Given the description of an element on the screen output the (x, y) to click on. 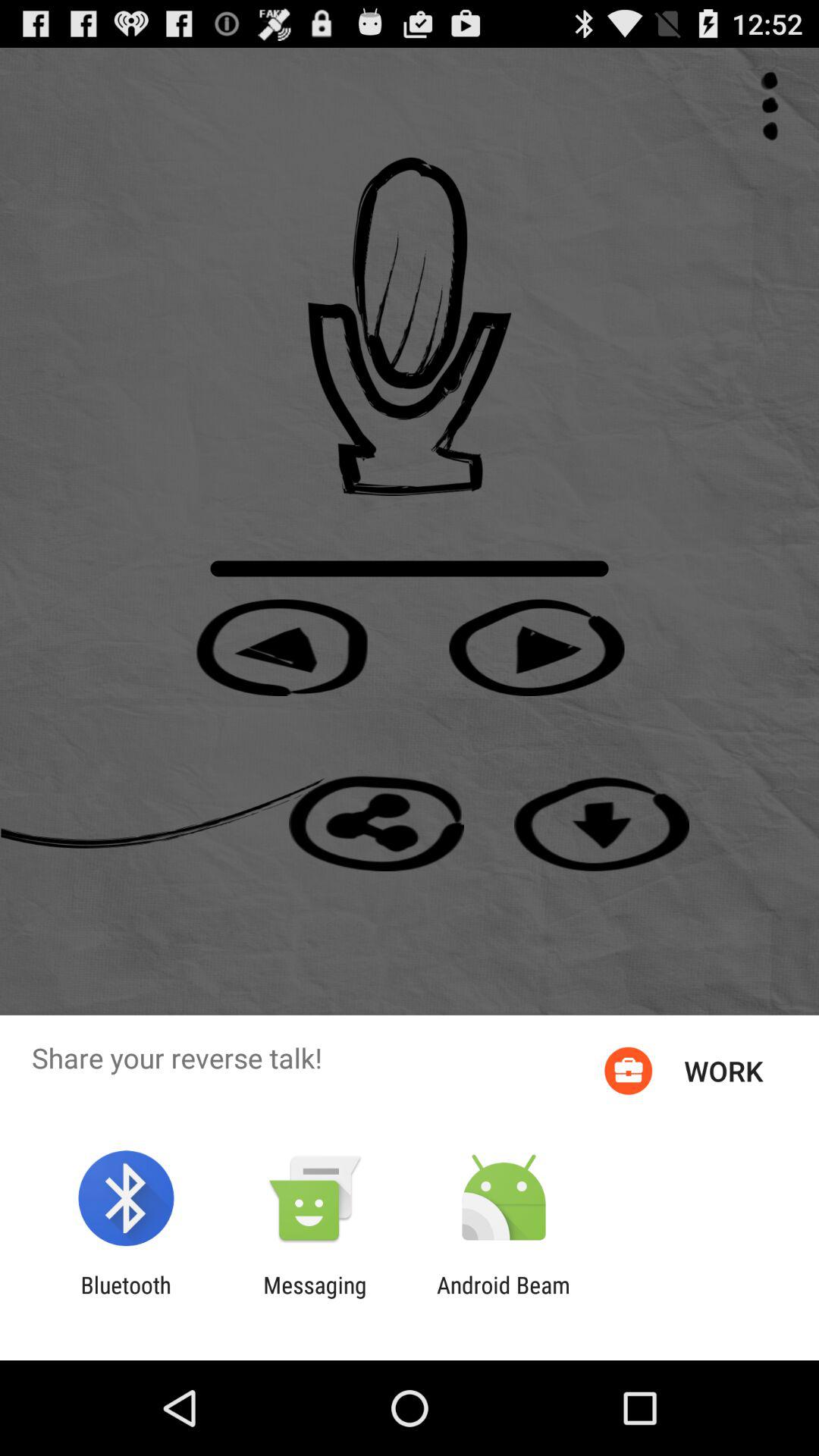
choose messaging (314, 1298)
